Given the description of an element on the screen output the (x, y) to click on. 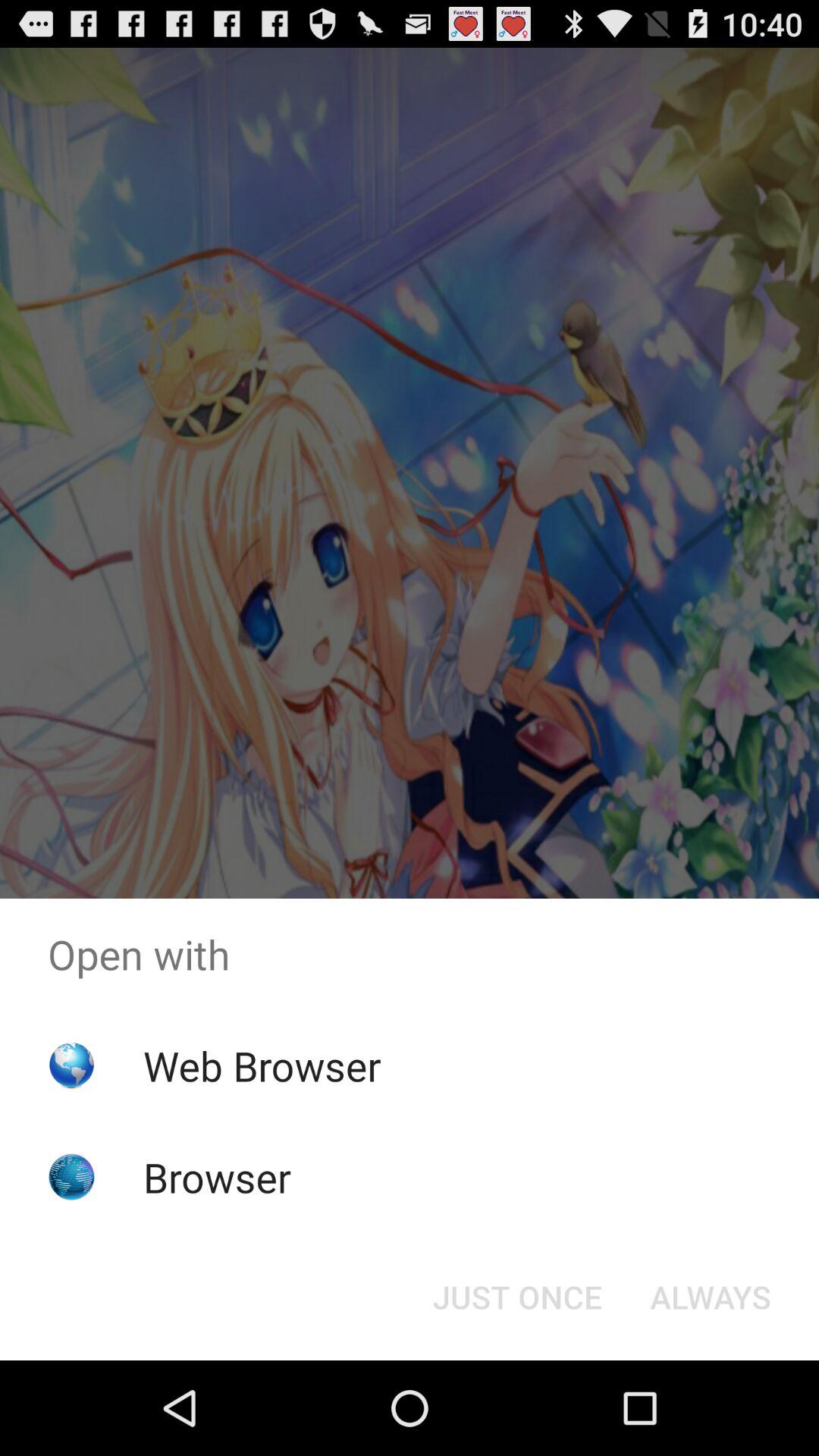
open the item at the bottom right corner (710, 1296)
